Given the description of an element on the screen output the (x, y) to click on. 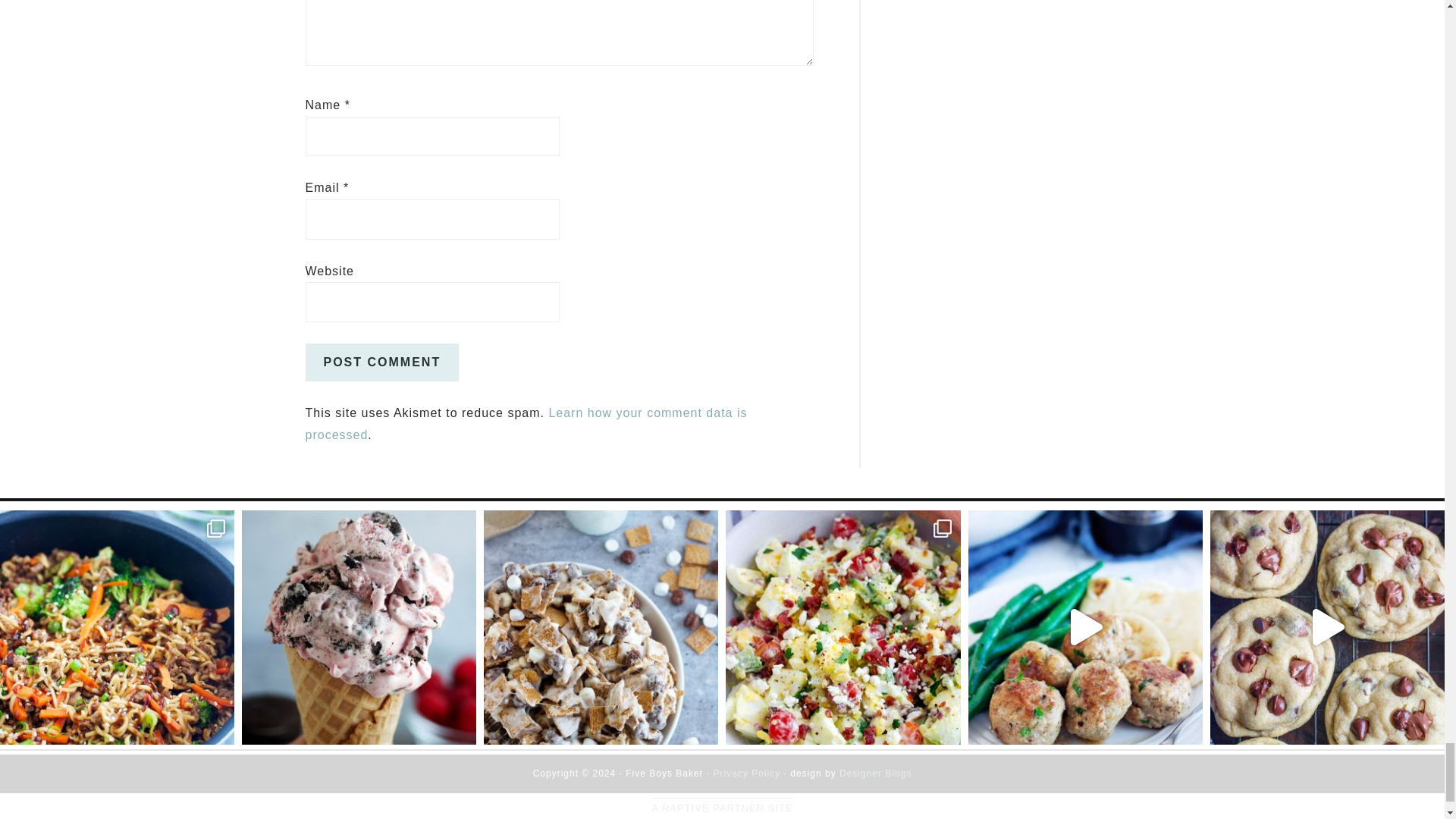
Post Comment (381, 362)
